Given the description of an element on the screen output the (x, y) to click on. 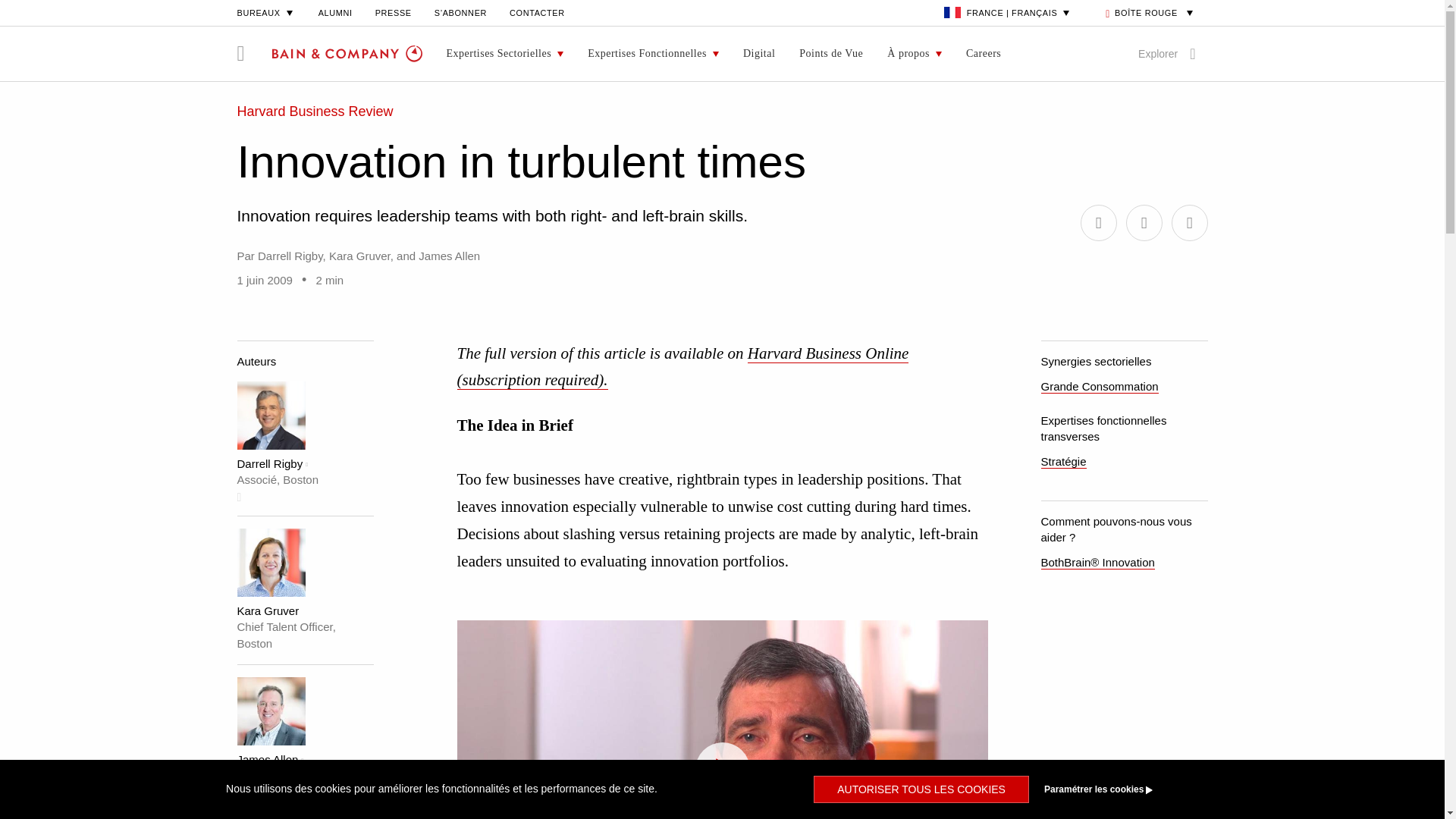
AUTORISER TOUS LES COOKIES (921, 789)
BUREAUX (265, 12)
